Given the description of an element on the screen output the (x, y) to click on. 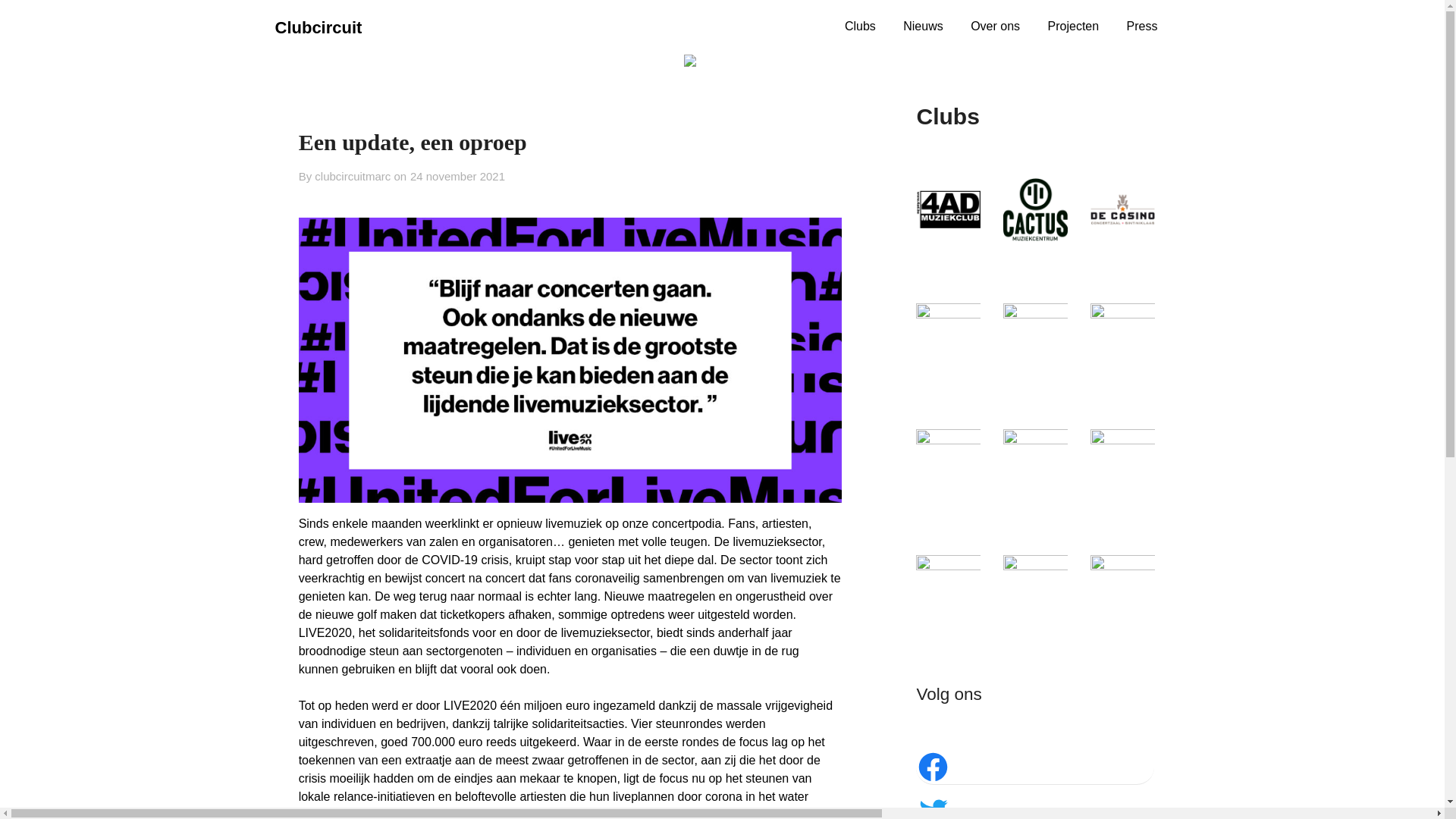
Projecten Element type: text (1073, 26)
Press Element type: text (1142, 26)
Zoeken Element type: text (39, 21)
Facebook Element type: text (1035, 766)
Clubcircuit Element type: text (317, 27)
Over ons Element type: text (995, 26)
24 november 2021 Element type: text (457, 175)
Nieuws Element type: text (922, 26)
Clubs Element type: text (860, 26)
